Given the description of an element on the screen output the (x, y) to click on. 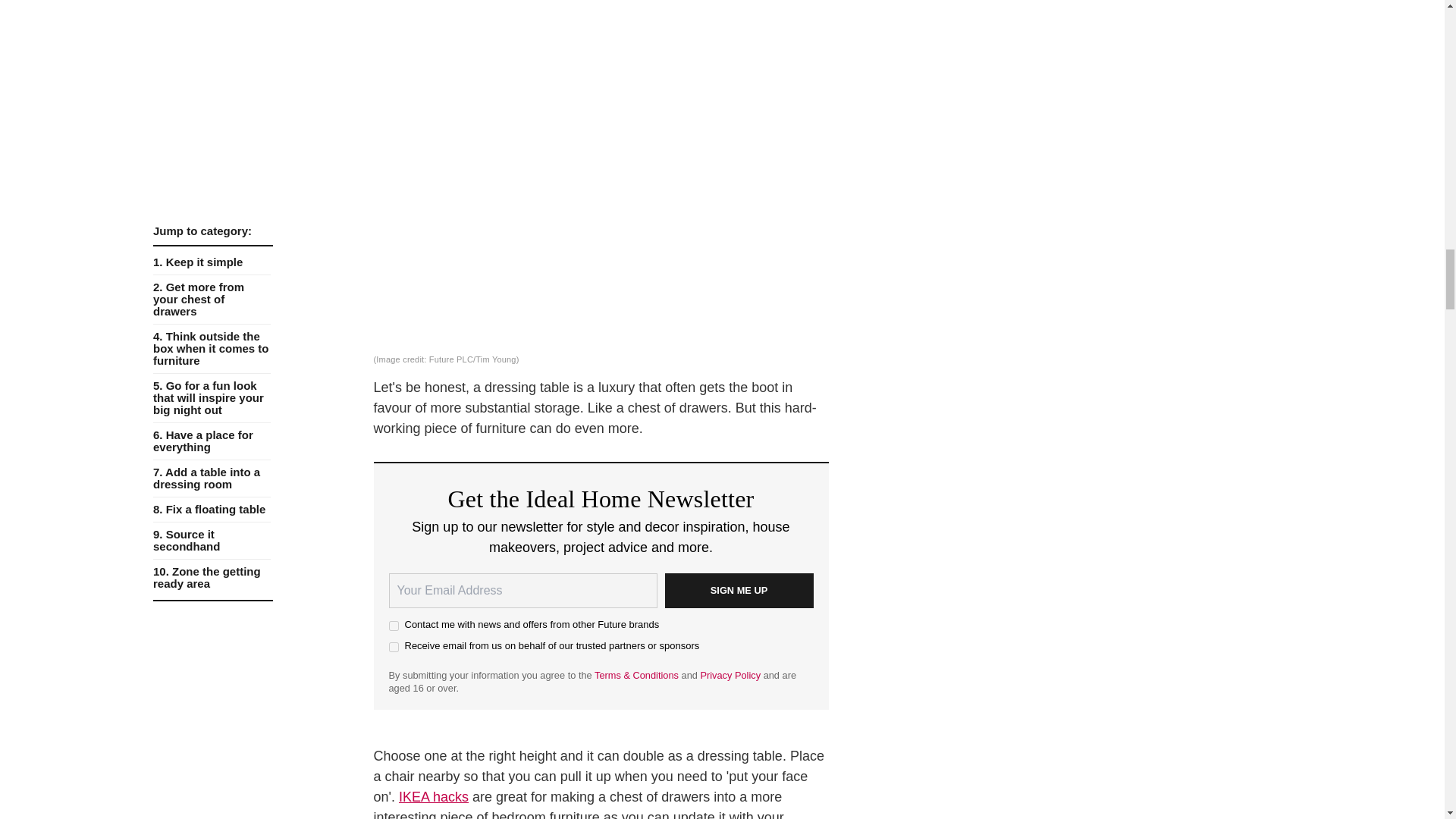
on (392, 646)
on (392, 625)
Sign me up (737, 590)
